Given the description of an element on the screen output the (x, y) to click on. 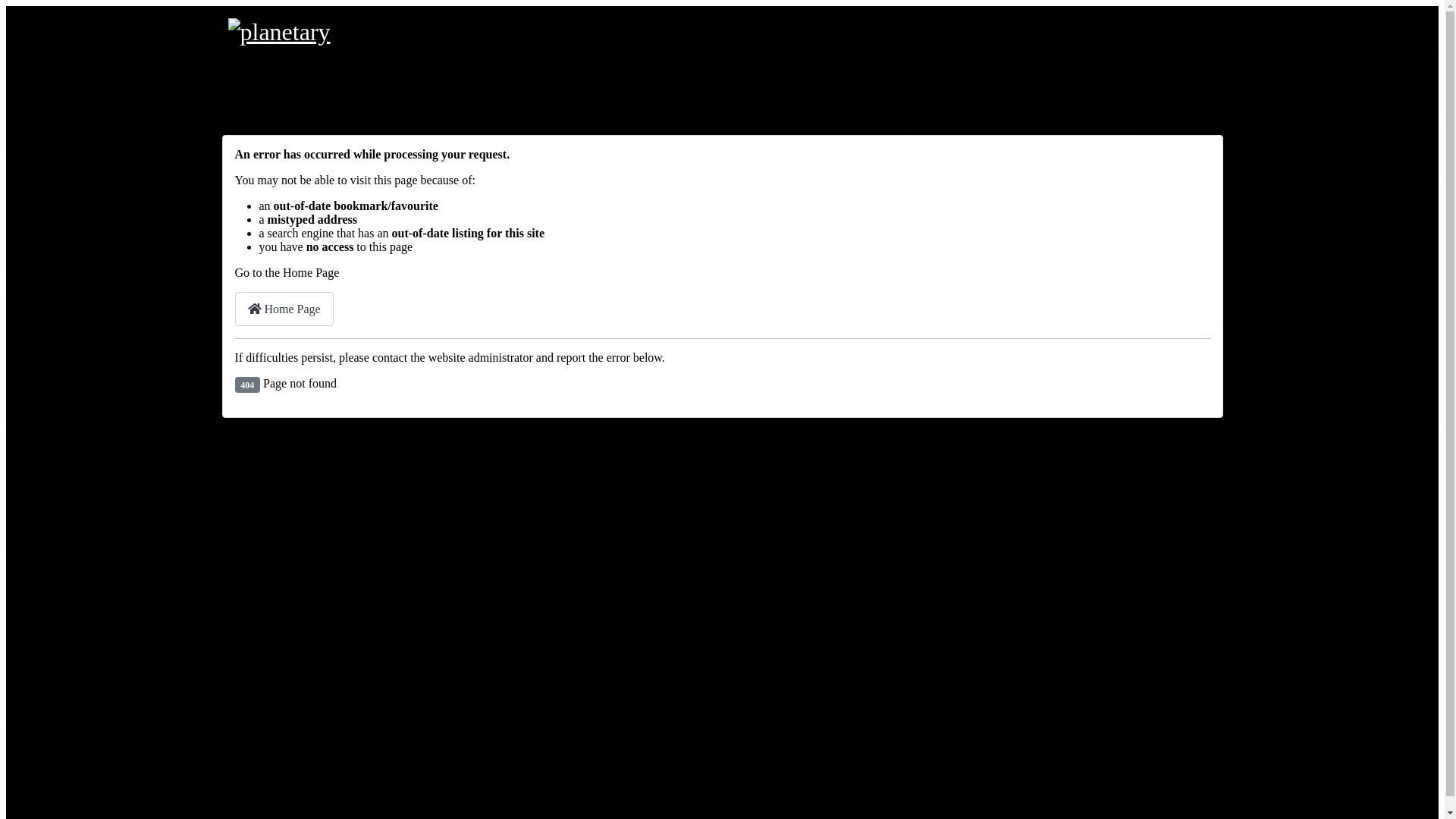
Home Page Element type: text (284, 308)
